Given the description of an element on the screen output the (x, y) to click on. 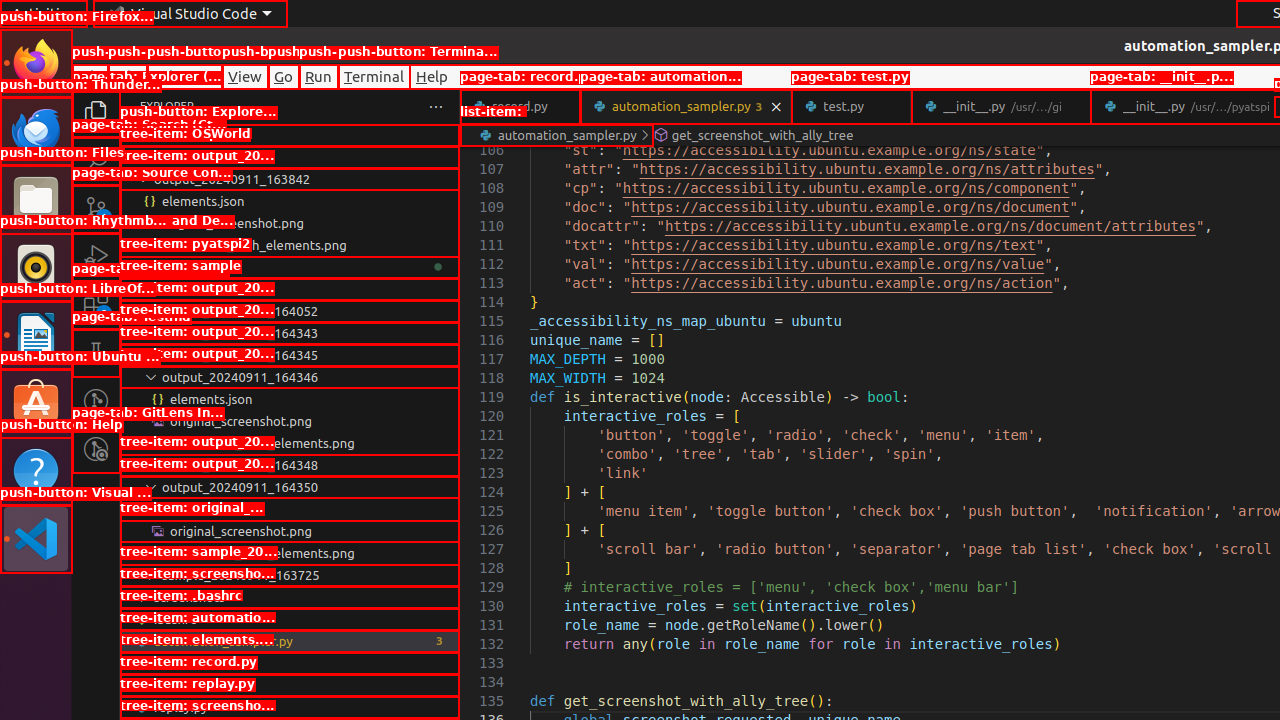
Firefox Web Browser Element type: push-button (36, 63)
elements.json Element type: tree-item (289, 663)
Terminal Element type: push-button (374, 76)
Extensions (Ctrl+Shift+X) - 2 require update Element type: page-tab (96, 305)
